Given the description of an element on the screen output the (x, y) to click on. 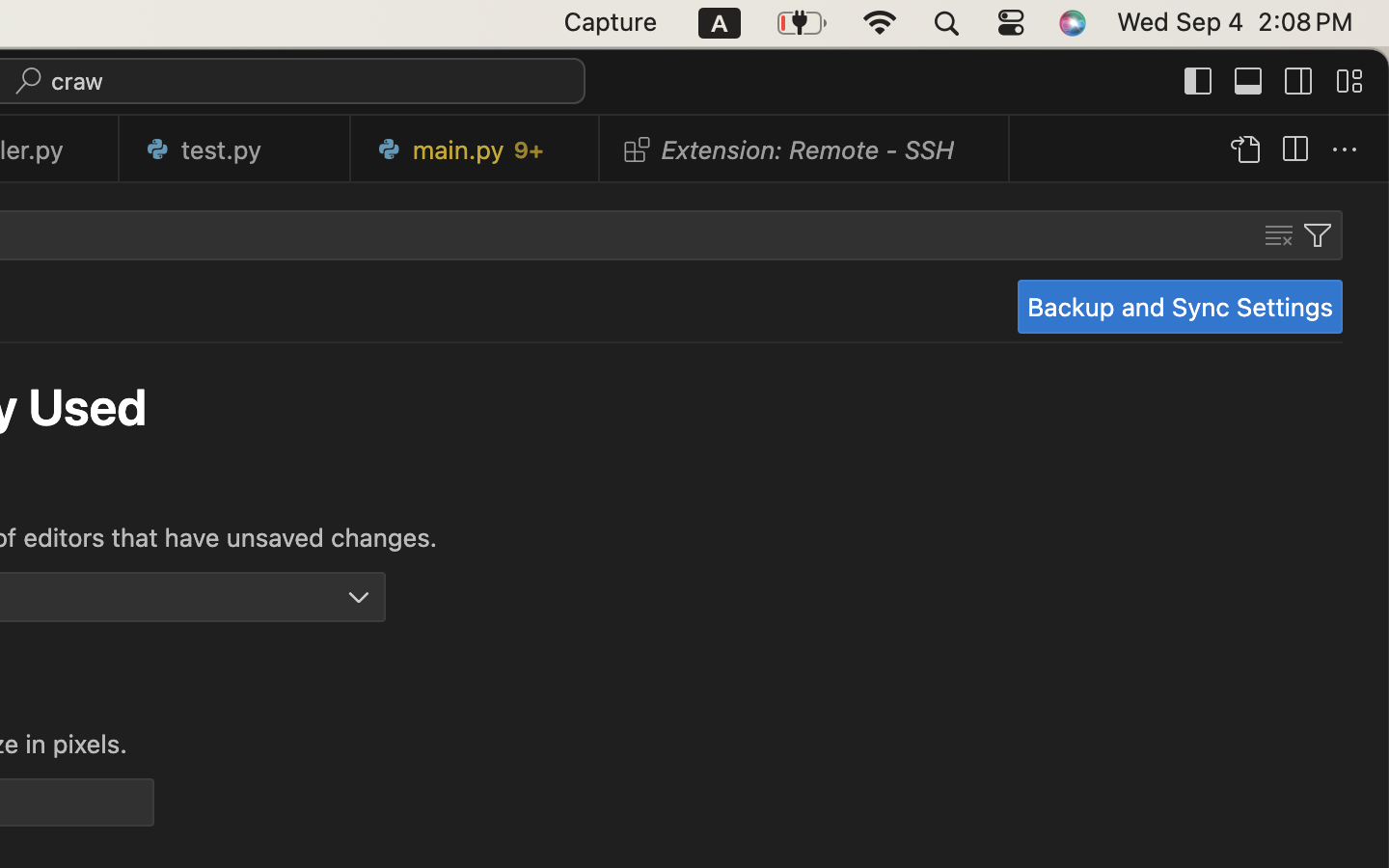
craw Element type: AXStaticText (78, 80)
 Element type: AXStaticText (1344, 150)
0 test.py   Element type: AXRadioButton (235, 149)
 Element type: AXCheckBox (1299, 80)
0 main.py   9+ Element type: AXRadioButton (475, 149)
